Given the description of an element on the screen output the (x, y) to click on. 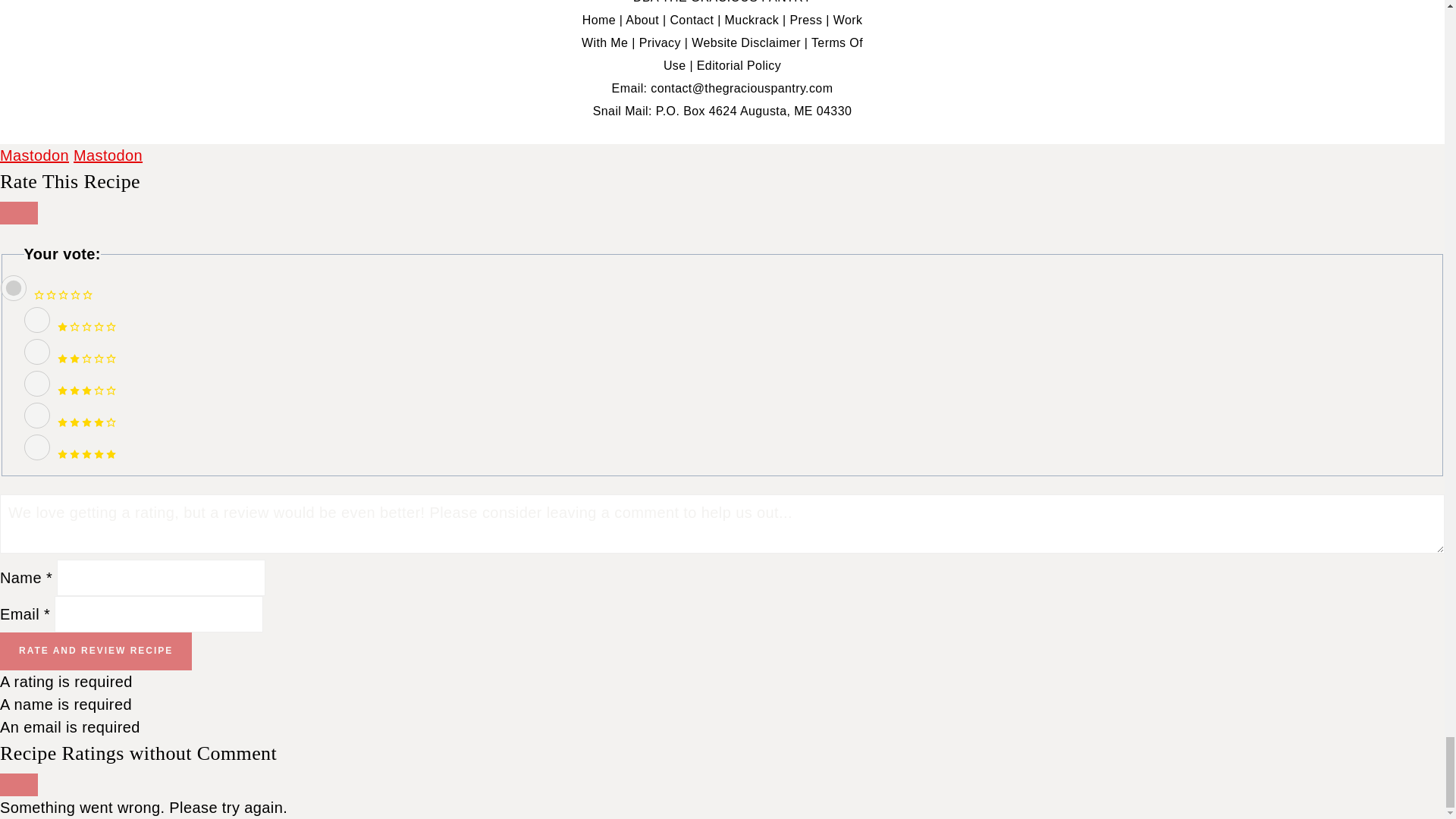
3 (36, 383)
5 (36, 447)
4 (36, 415)
2 (36, 351)
1 (36, 319)
0 (13, 288)
